Given the description of an element on the screen output the (x, y) to click on. 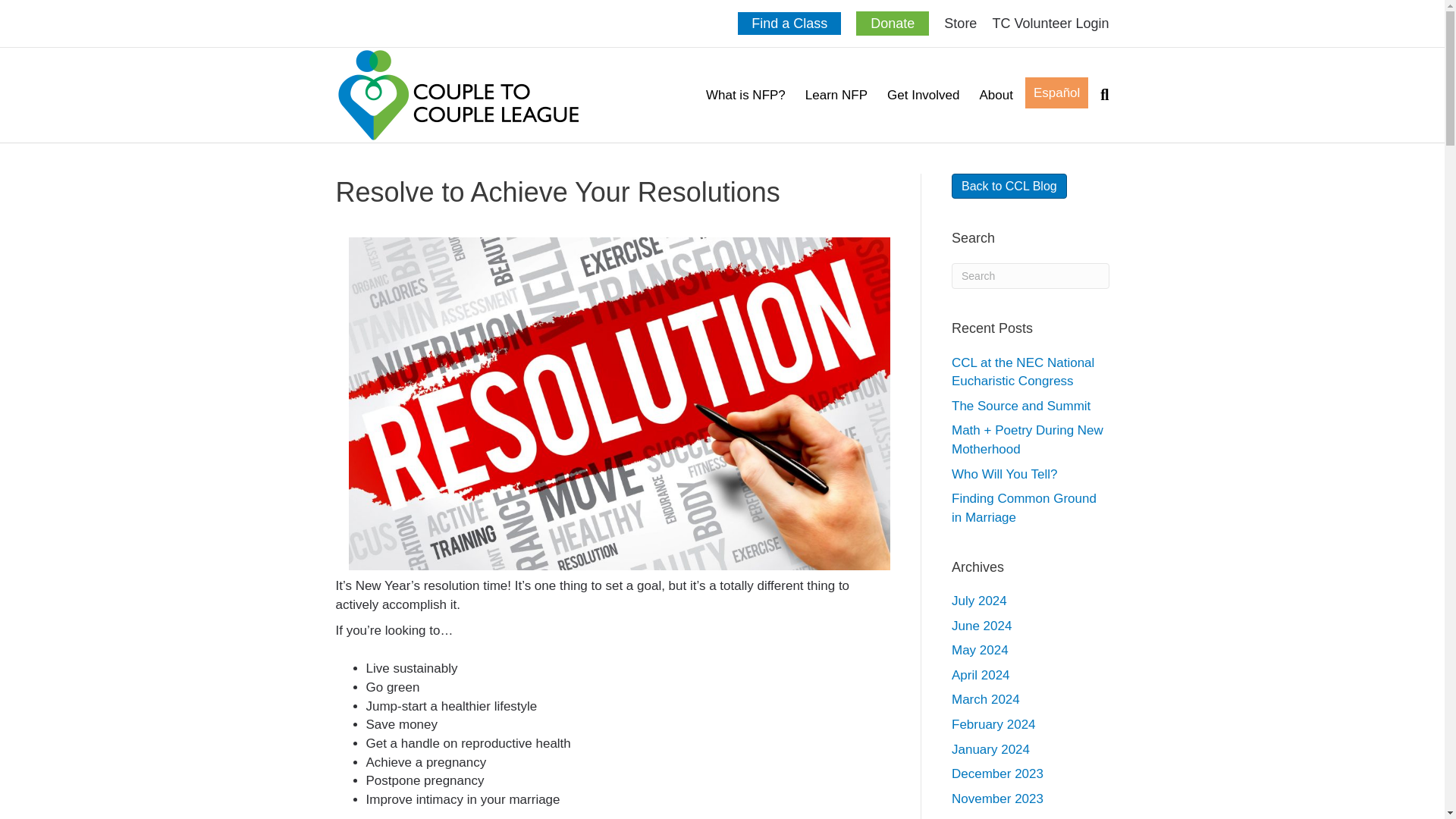
Type and press Enter to search. (1030, 275)
